Given the description of an element on the screen output the (x, y) to click on. 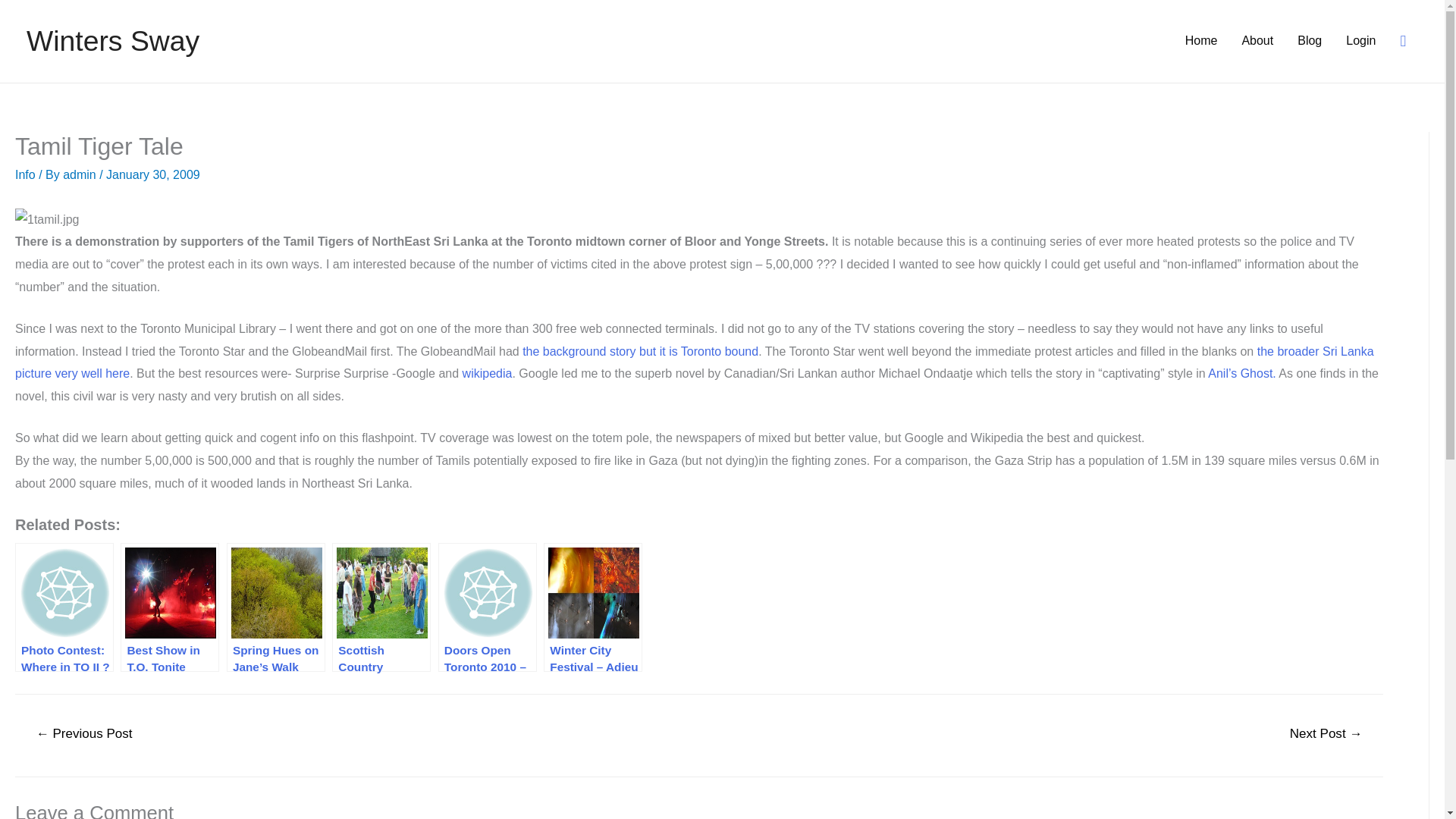
Winters Sway (112, 40)
admin (80, 174)
the background story but it is Toronto bound (638, 350)
the broader Sri Lanka picture very well here (694, 362)
Search (18, 17)
Blog (1309, 40)
Home (1201, 40)
Info (24, 174)
Login (1360, 40)
About (1256, 40)
wikipedia (487, 373)
View all posts by admin (80, 174)
